Given the description of an element on the screen output the (x, y) to click on. 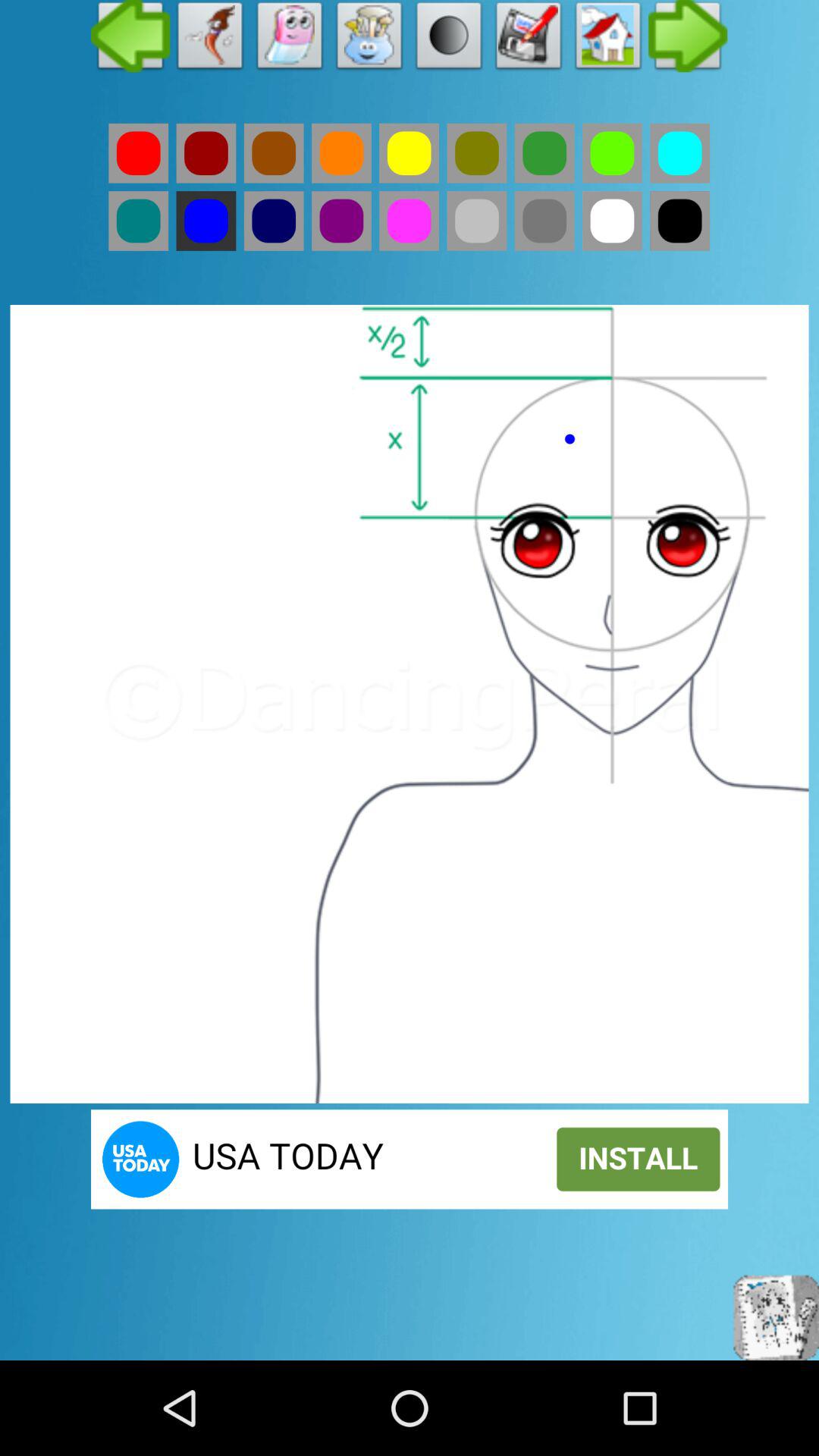
this is button to select black color (679, 220)
